Given the description of an element on the screen output the (x, y) to click on. 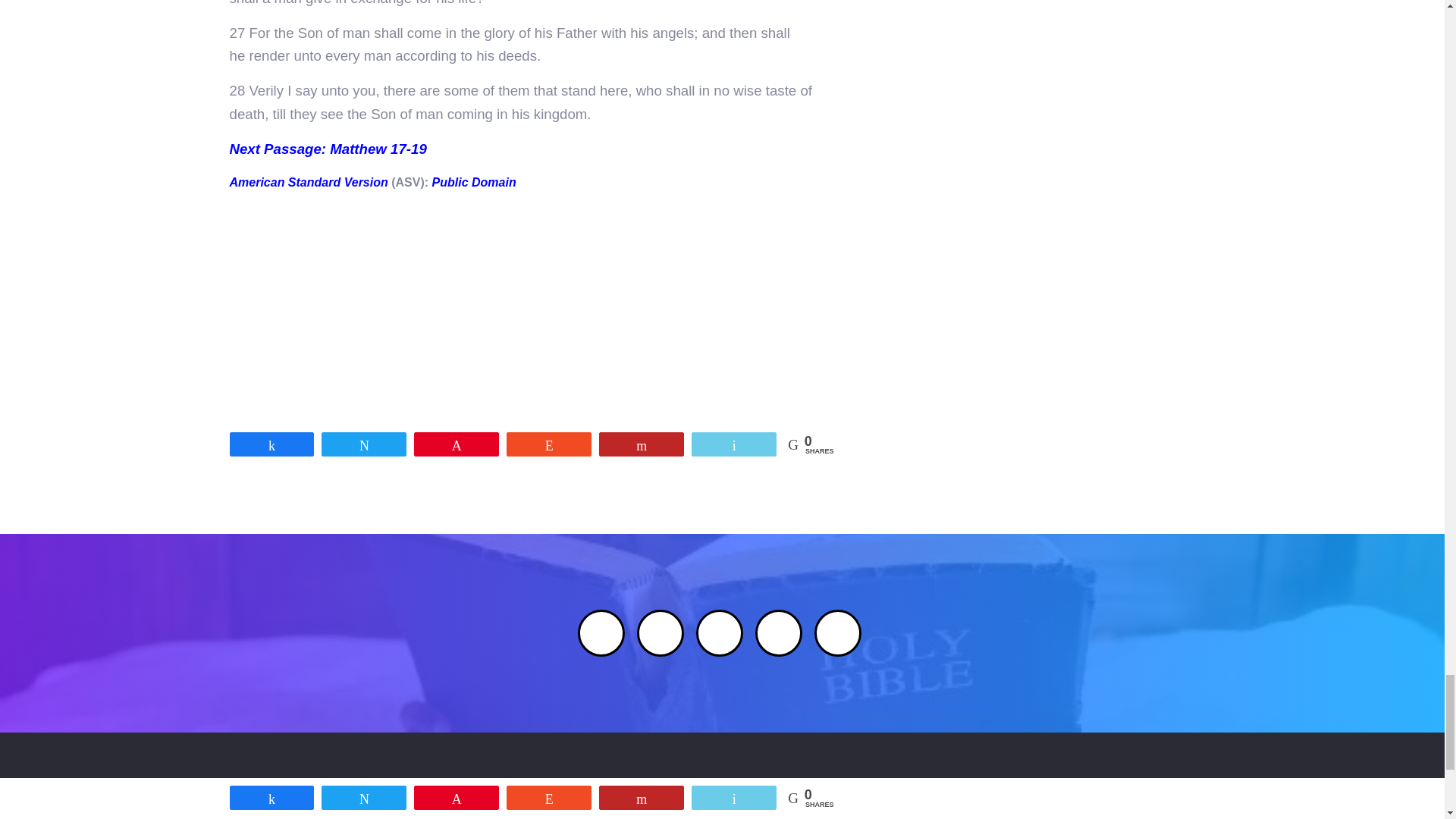
Next Passage: Matthew 17-19 (327, 148)
Public Domain (474, 182)
American Standard Version (307, 182)
